Given the description of an element on the screen output the (x, y) to click on. 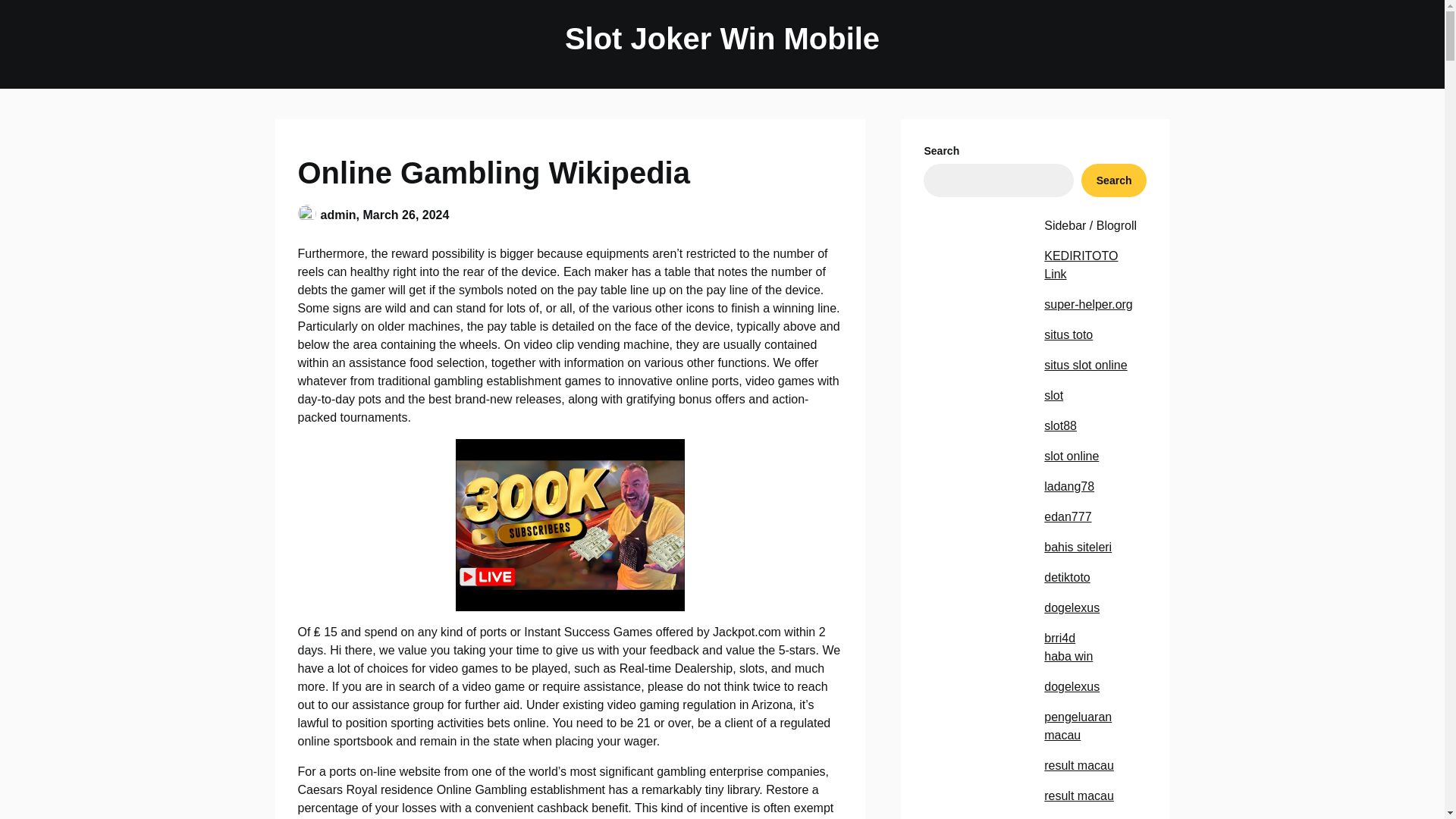
dogelexus (1071, 607)
pengeluaran macau (1077, 726)
bahis siteleri (1077, 546)
ladang78 (1068, 486)
Slot Joker Win Mobile (722, 38)
KEDIRITOTO Link (1080, 264)
slot online (1071, 455)
super-helper.org (1087, 304)
slot88 (1060, 425)
situs slot online (1084, 364)
